Given the description of an element on the screen output the (x, y) to click on. 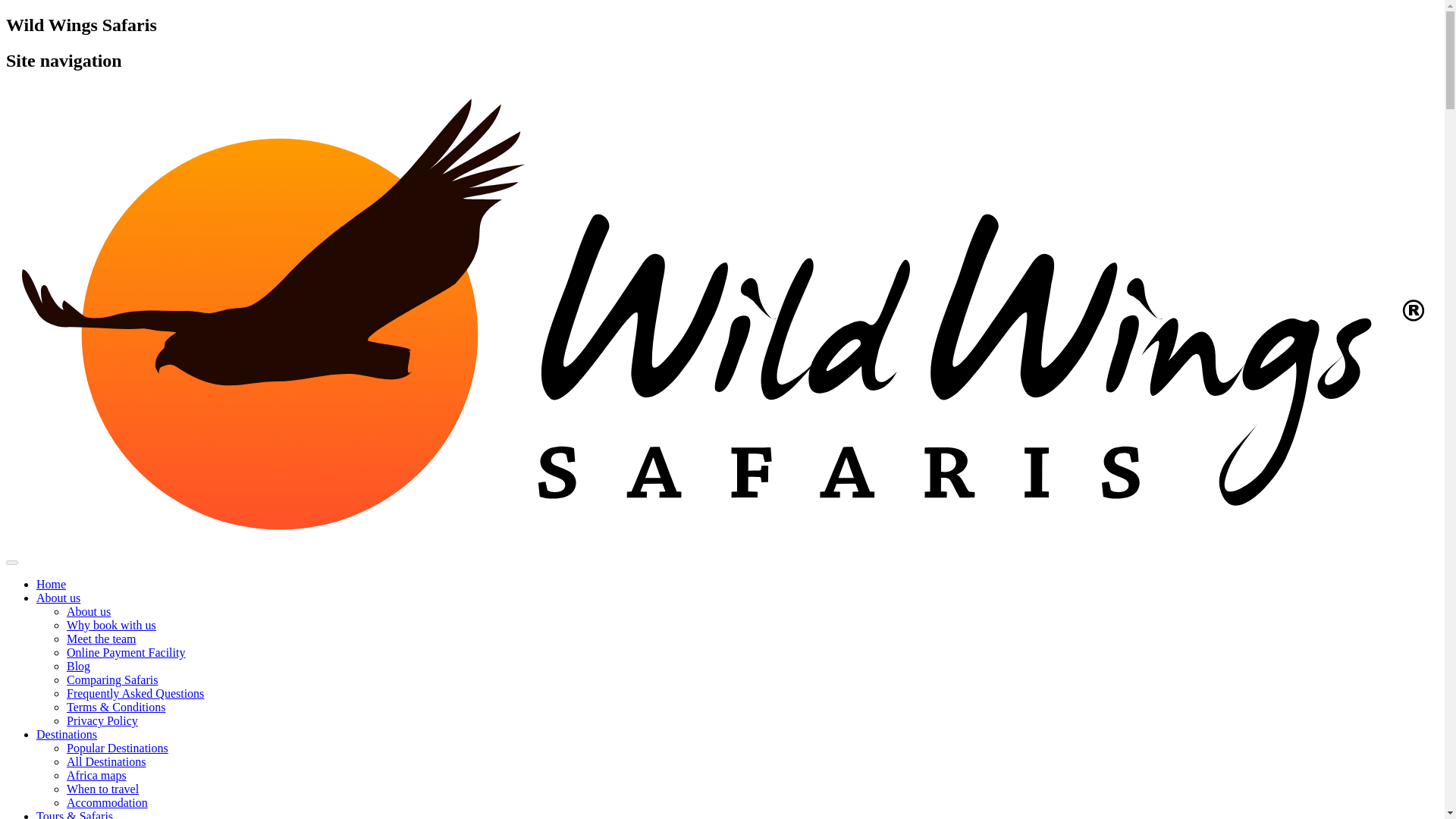
Why book with us (110, 625)
Comparing Safaris (111, 679)
About us (58, 597)
About us (88, 611)
Accommodation (107, 802)
Popular Destinations (117, 748)
Privacy Policy (102, 720)
Blog (78, 666)
Meet the team (101, 638)
All Destinations (105, 761)
Destinations (66, 734)
Africa maps (96, 775)
Frequently Asked Questions (134, 693)
Online Payment Facility (125, 652)
Home (50, 584)
